Given the description of an element on the screen output the (x, y) to click on. 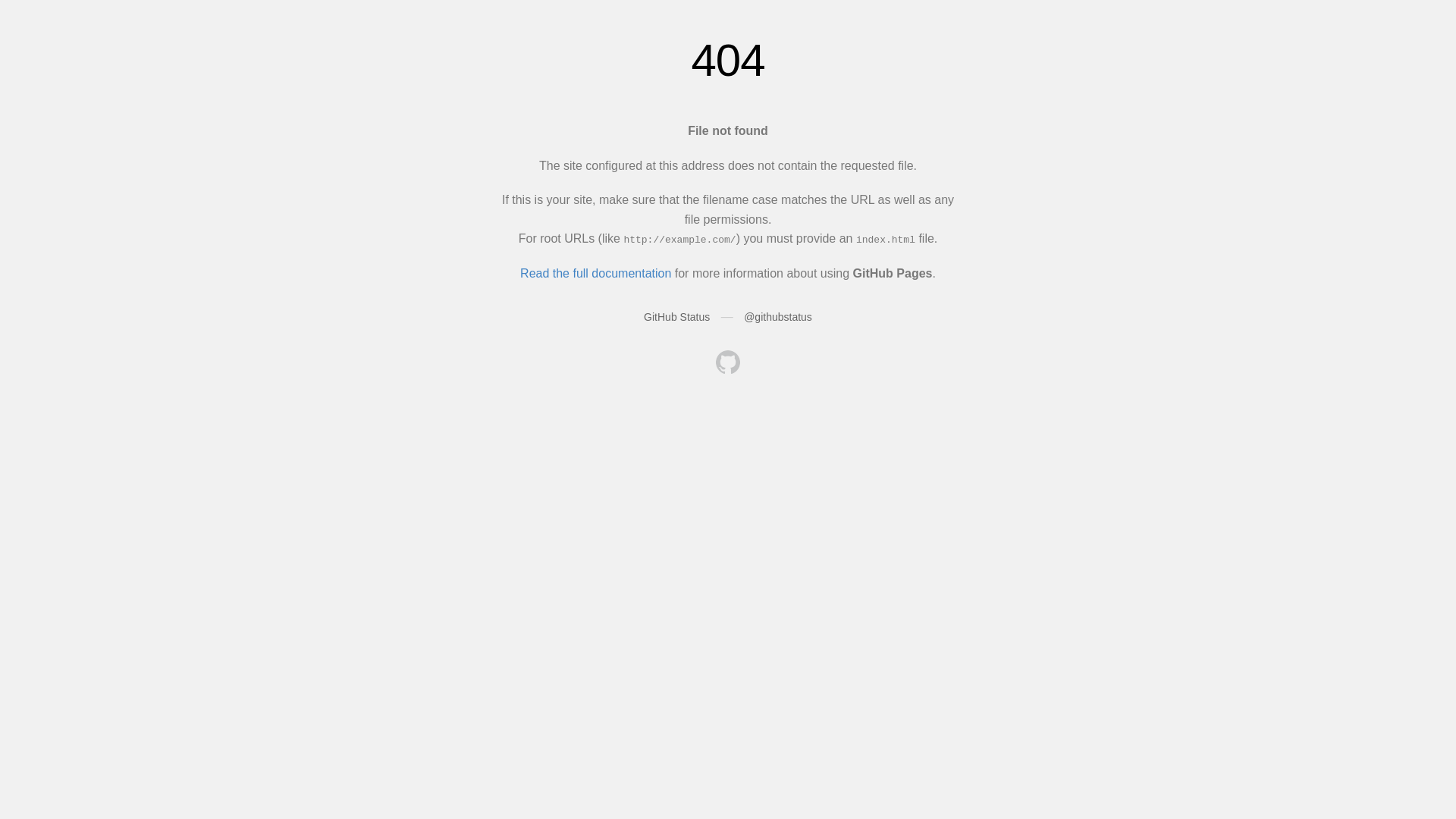
@githubstatus Element type: text (777, 316)
GitHub Status Element type: text (676, 316)
Read the full documentation Element type: text (595, 272)
